Given the description of an element on the screen output the (x, y) to click on. 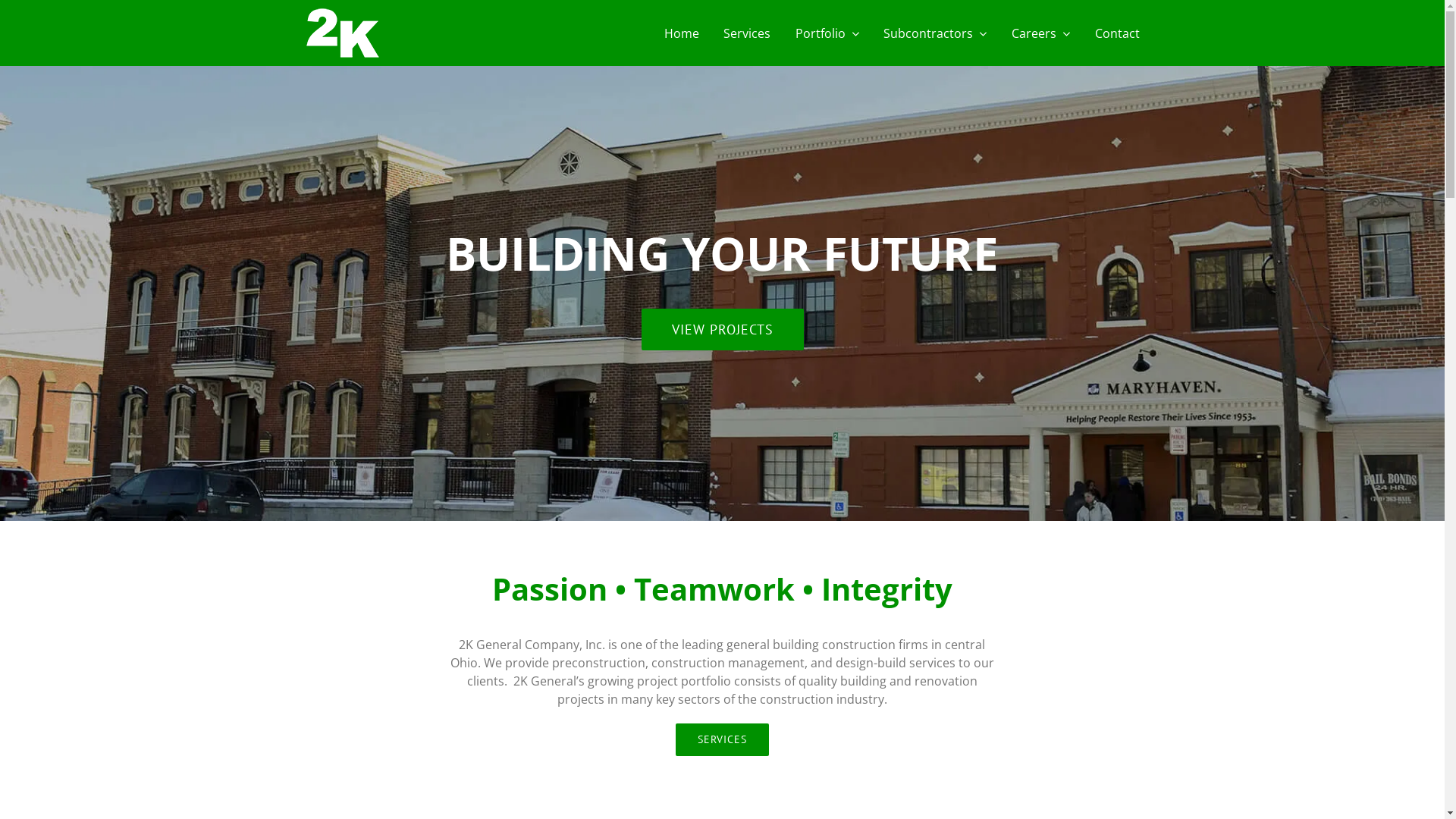
Careers Element type: text (1040, 33)
Portfolio Element type: text (827, 33)
Contact Element type: text (1117, 33)
Subcontractors Element type: text (934, 33)
VIEW PROJECTS Element type: text (722, 329)
Home Element type: text (681, 33)
Services Element type: text (746, 33)
SERVICES Element type: text (721, 739)
